Given the description of an element on the screen output the (x, y) to click on. 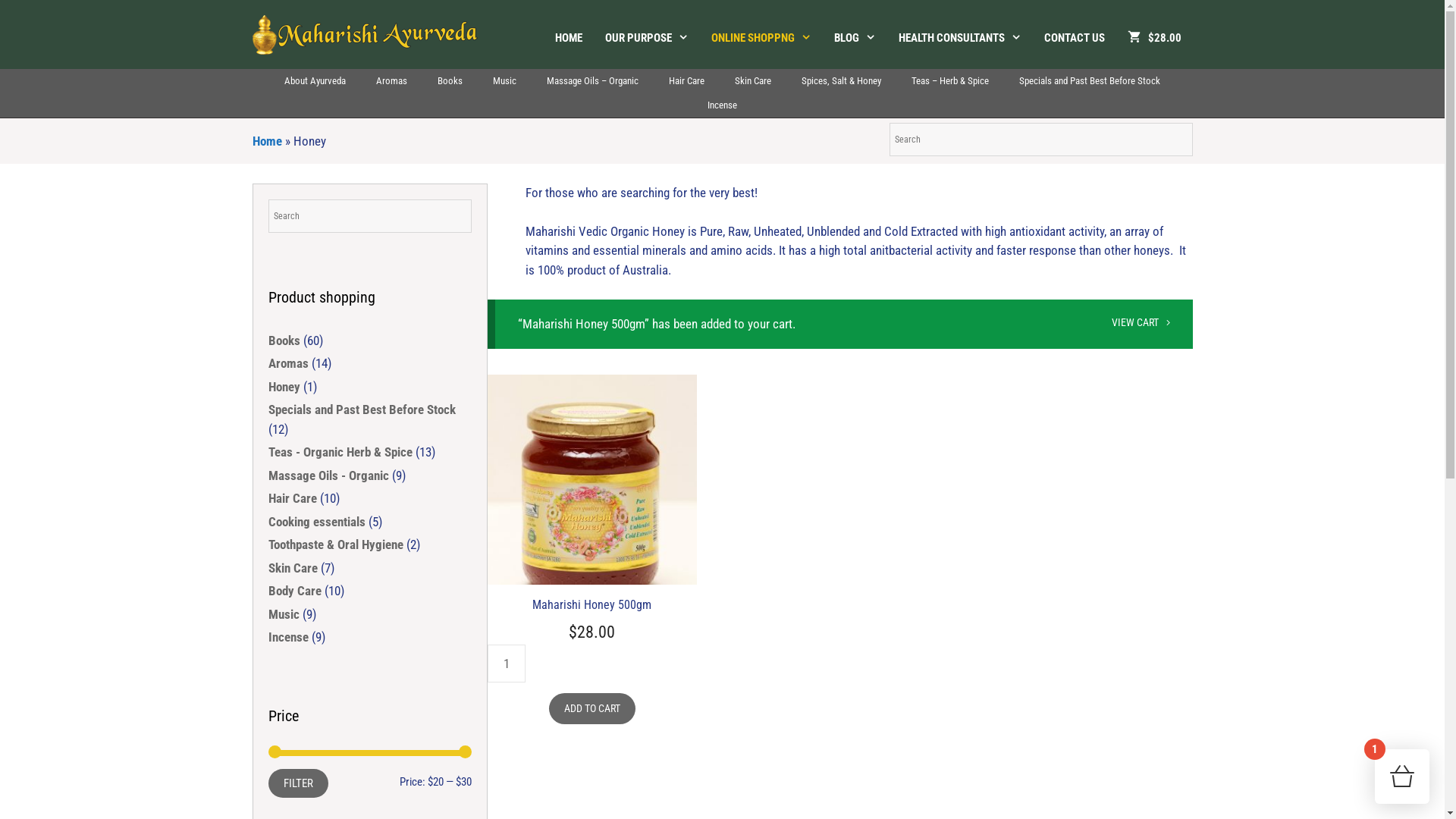
Aromas Element type: text (391, 81)
Books Element type: text (284, 339)
Teas - Organic Herb & Spice Element type: text (340, 451)
VIEW CART Element type: text (1140, 321)
Music Element type: text (283, 613)
Hair Care Element type: text (292, 497)
BLOG Element type: text (854, 38)
Incense Element type: text (722, 105)
Skin Care Element type: text (752, 81)
ADD TO CART Element type: text (592, 708)
Specials and Past Best Before Stock Element type: text (1089, 81)
HOME Element type: text (567, 38)
Toothpaste & Oral Hygiene Element type: text (335, 544)
Incense Element type: text (288, 636)
Aromas Element type: text (288, 362)
HEALTH CONSULTANTS Element type: text (959, 38)
Music Element type: text (504, 81)
Books Element type: text (449, 81)
Home Element type: text (266, 140)
Hair Care Element type: text (686, 81)
1 Element type: text (1401, 776)
Body Care Element type: text (294, 590)
OUR PURPOSE Element type: text (646, 38)
About Ayurveda Element type: text (314, 81)
Specials and Past Best Before Stock Element type: text (361, 409)
CONTACT US Element type: text (1074, 38)
FILTER Element type: text (298, 782)
Honey Element type: text (284, 386)
Spices, Salt & Honey Element type: text (841, 81)
Cooking essentials Element type: text (316, 521)
Skin Care Element type: text (292, 566)
$28.00 Element type: text (1154, 38)
Maharishi Honey 500gm
$28.00 Element type: text (591, 509)
ONLINE SHOPPNG Element type: text (760, 38)
Massage Oils - Organic Element type: text (328, 474)
